Given the description of an element on the screen output the (x, y) to click on. 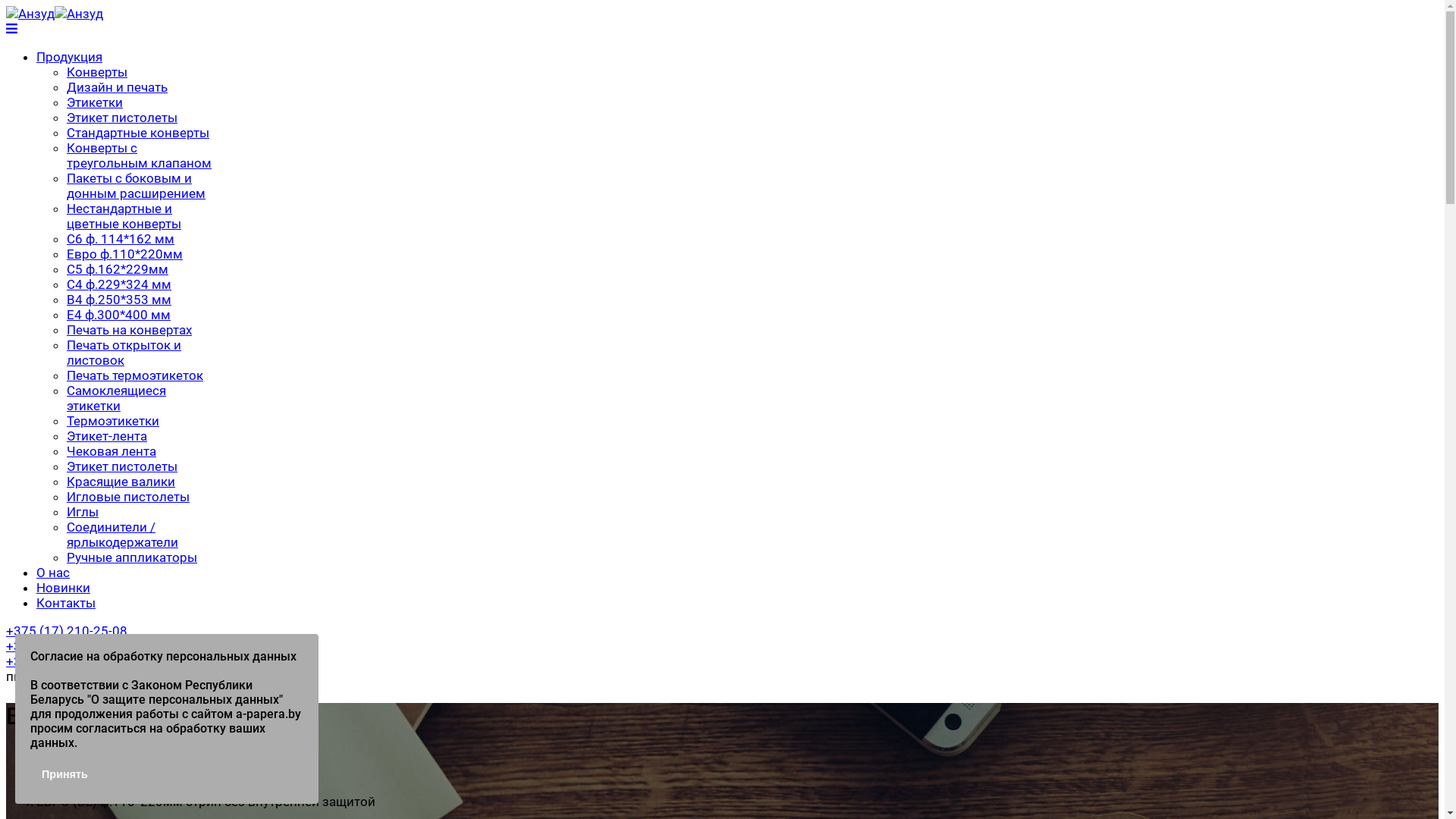
+375 (29) 375-55-09 Element type: text (66, 660)
+375 (17) 210-25-08 Element type: text (66, 630)
+375 (29) 375-55-08 Element type: text (66, 645)
